Given the description of an element on the screen output the (x, y) to click on. 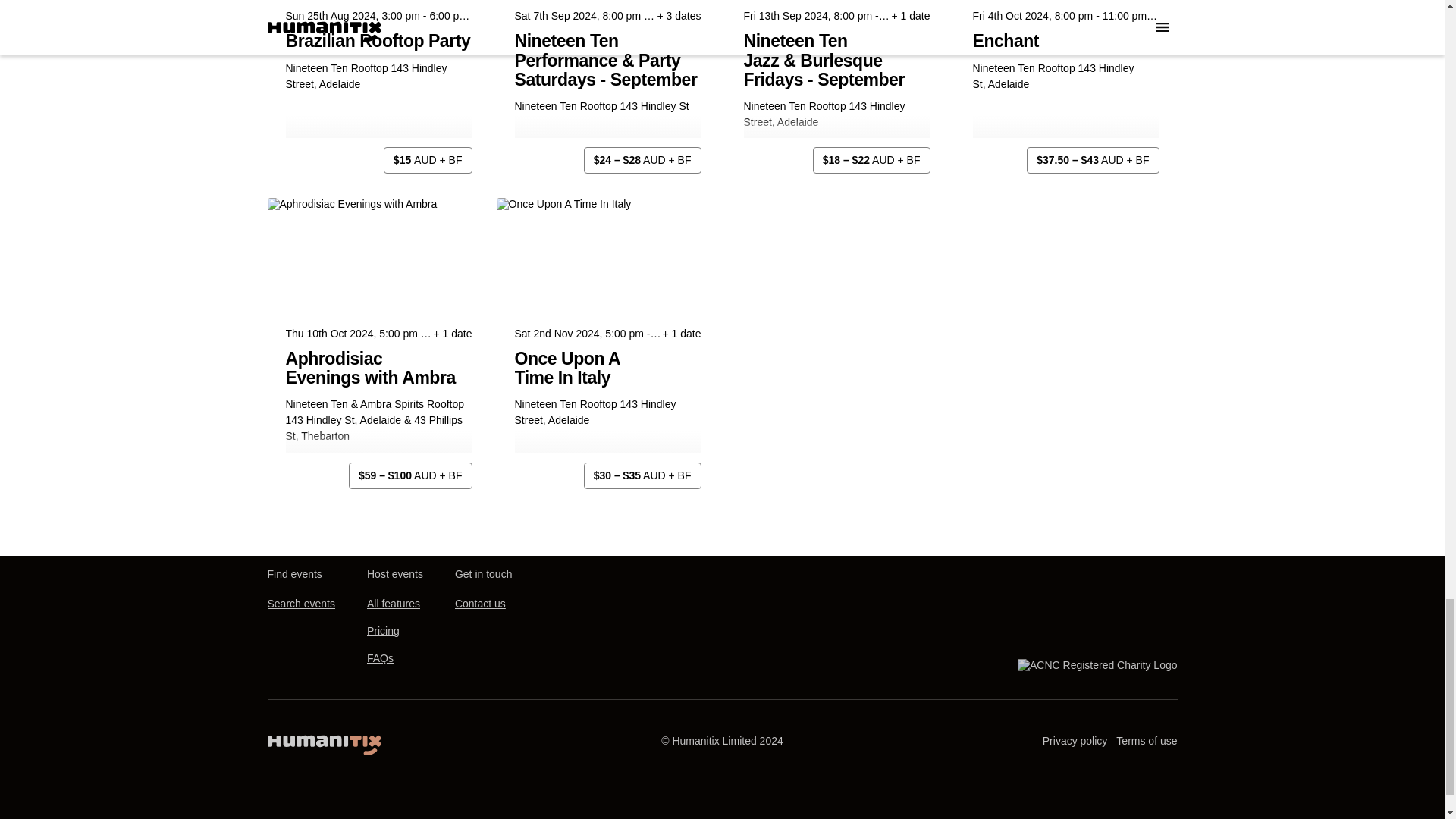
Search events (300, 603)
Pricing (382, 630)
All features (393, 603)
